Given the description of an element on the screen output the (x, y) to click on. 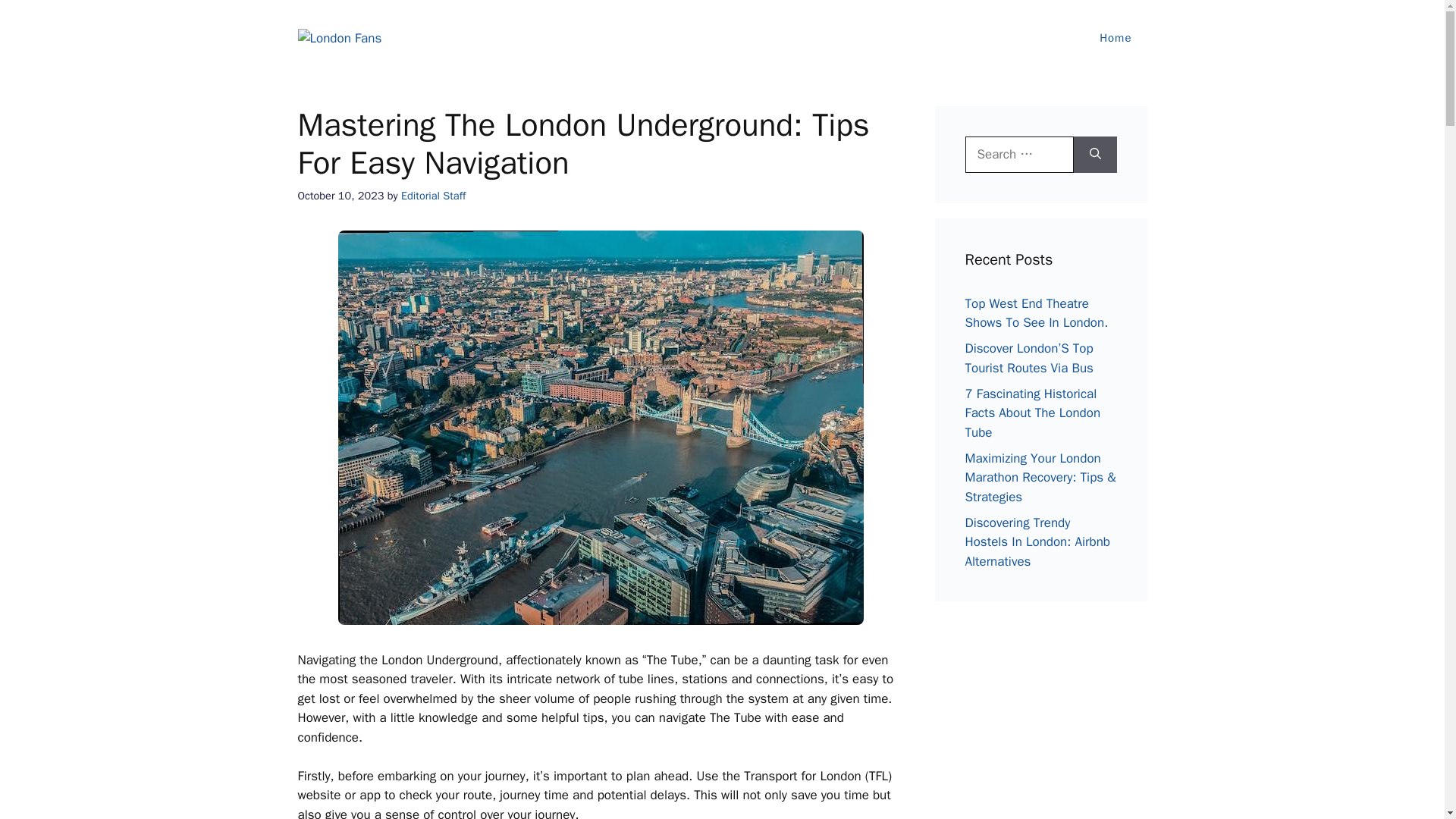
View all posts by Editorial Staff (433, 195)
7 Fascinating Historical Facts About The London Tube (1031, 411)
Home (1115, 37)
Search for: (1018, 154)
Top West End Theatre Shows To See In London. (1035, 313)
Editorial Staff (433, 195)
Discovering Trendy Hostels In London: Airbnb Alternatives (1036, 541)
